Given the description of an element on the screen output the (x, y) to click on. 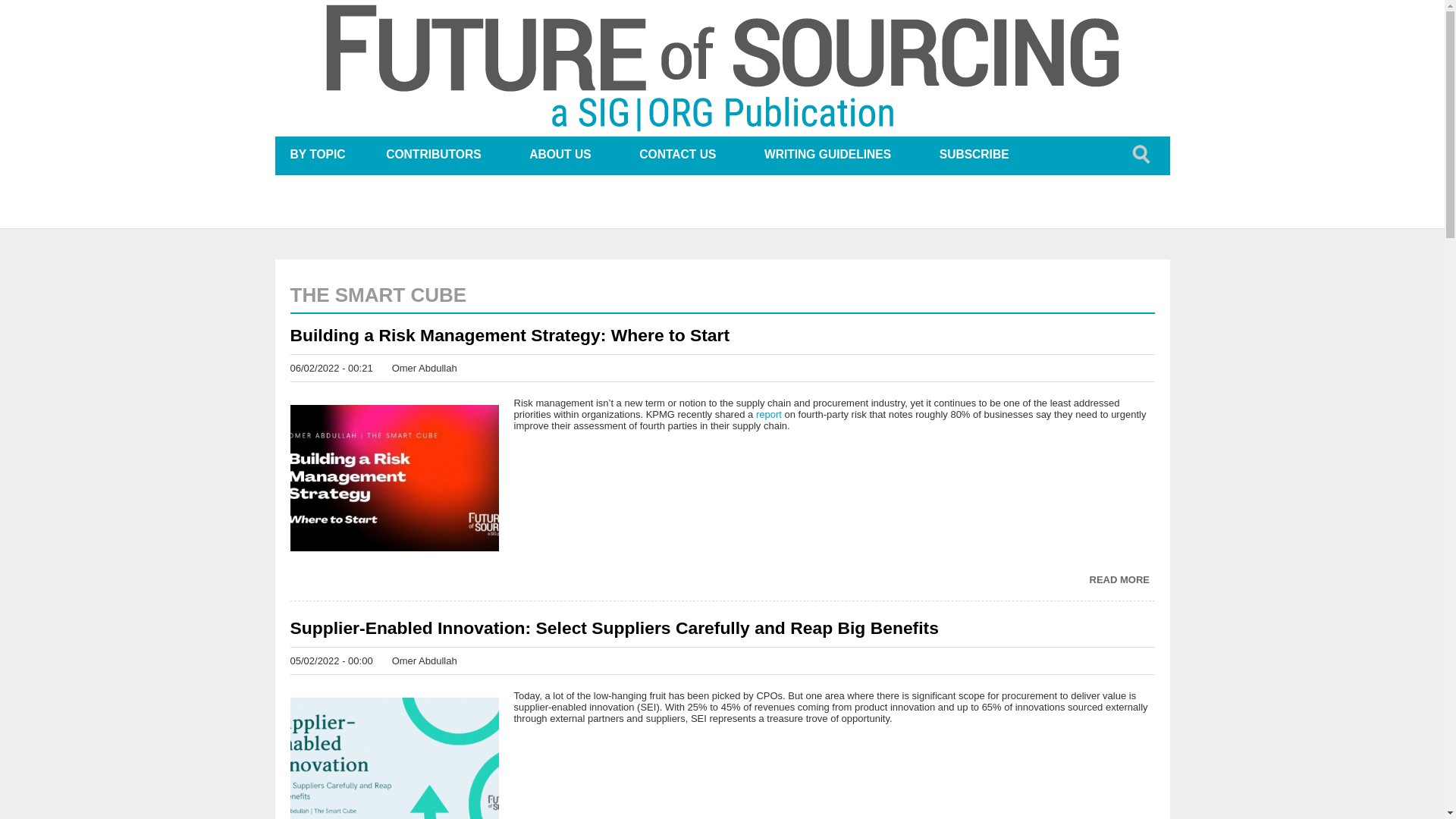
SEARCH (1140, 154)
Skip to main content (677, 1)
Building a Risk Management Strategy: Where to Start (721, 334)
report (768, 414)
Building a Risk Management Strategy: Where to Start (1119, 579)
WRITING GUIDELINES (827, 154)
SUBSCRIBE (974, 154)
CONTRIBUTORS (432, 154)
ABOUT US (559, 154)
Building a Risk Management Strategy: Where to Start (721, 334)
CONTACT US (676, 154)
